Given the description of an element on the screen output the (x, y) to click on. 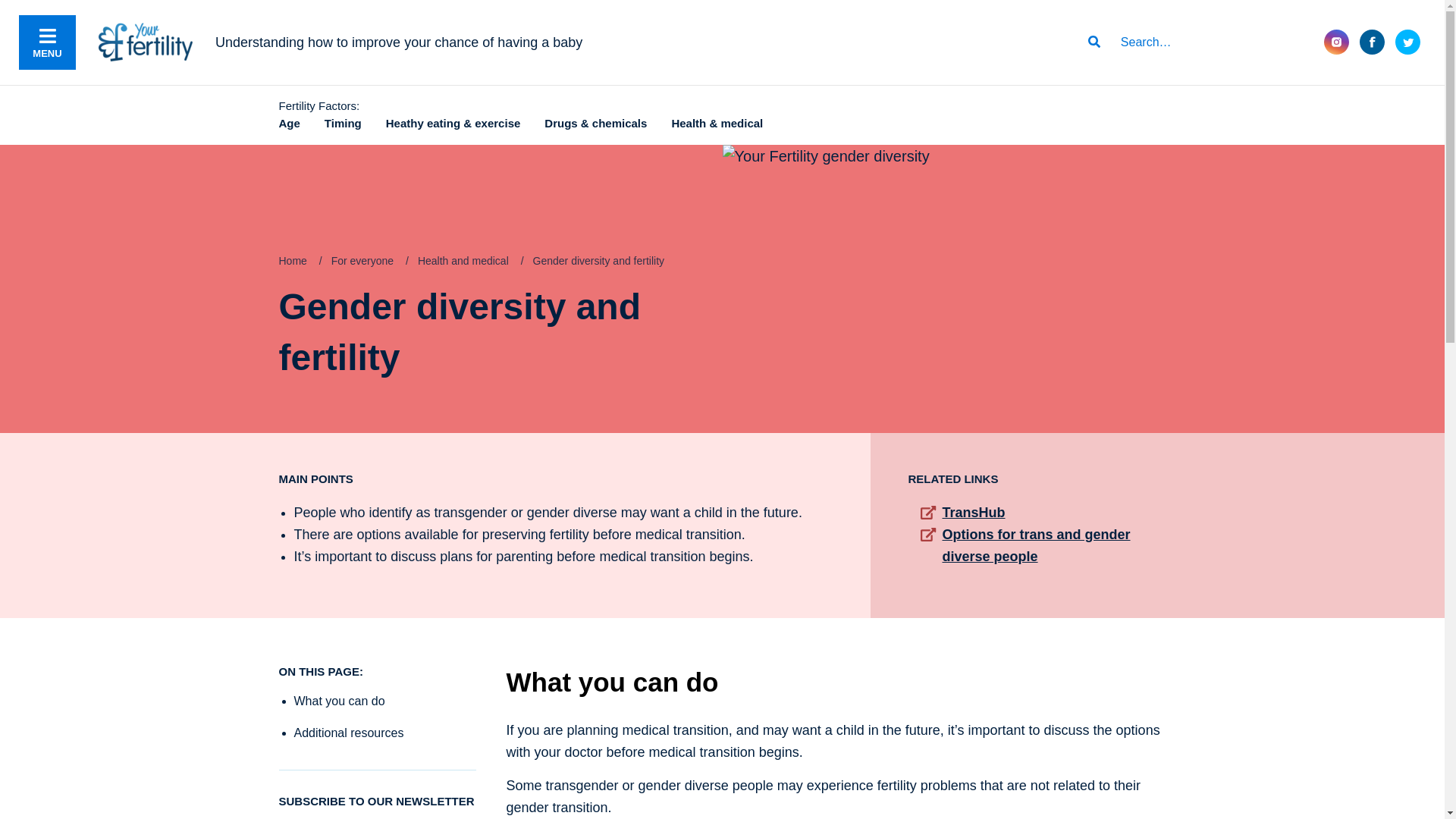
Skip to main content Element type: text (0, 0)
Search Element type: hover (1201, 41)
Drugs & chemicals Element type: text (595, 122)
For everyone Element type: text (362, 260)
Heathy eating & exercise Element type: text (452, 122)
Home Element type: text (293, 260)
Timing Element type: text (342, 122)
What you can do Element type: text (339, 700)
Additional resources Element type: text (349, 731)
Health & medical Element type: text (716, 122)
MENU Element type: text (46, 42)
Age Element type: text (289, 122)
Health and medical Element type: text (462, 260)
Submit Element type: text (1093, 41)
Options for trans and gender diverse people Element type: text (1035, 545)
TransHub Element type: text (972, 512)
